Given the description of an element on the screen output the (x, y) to click on. 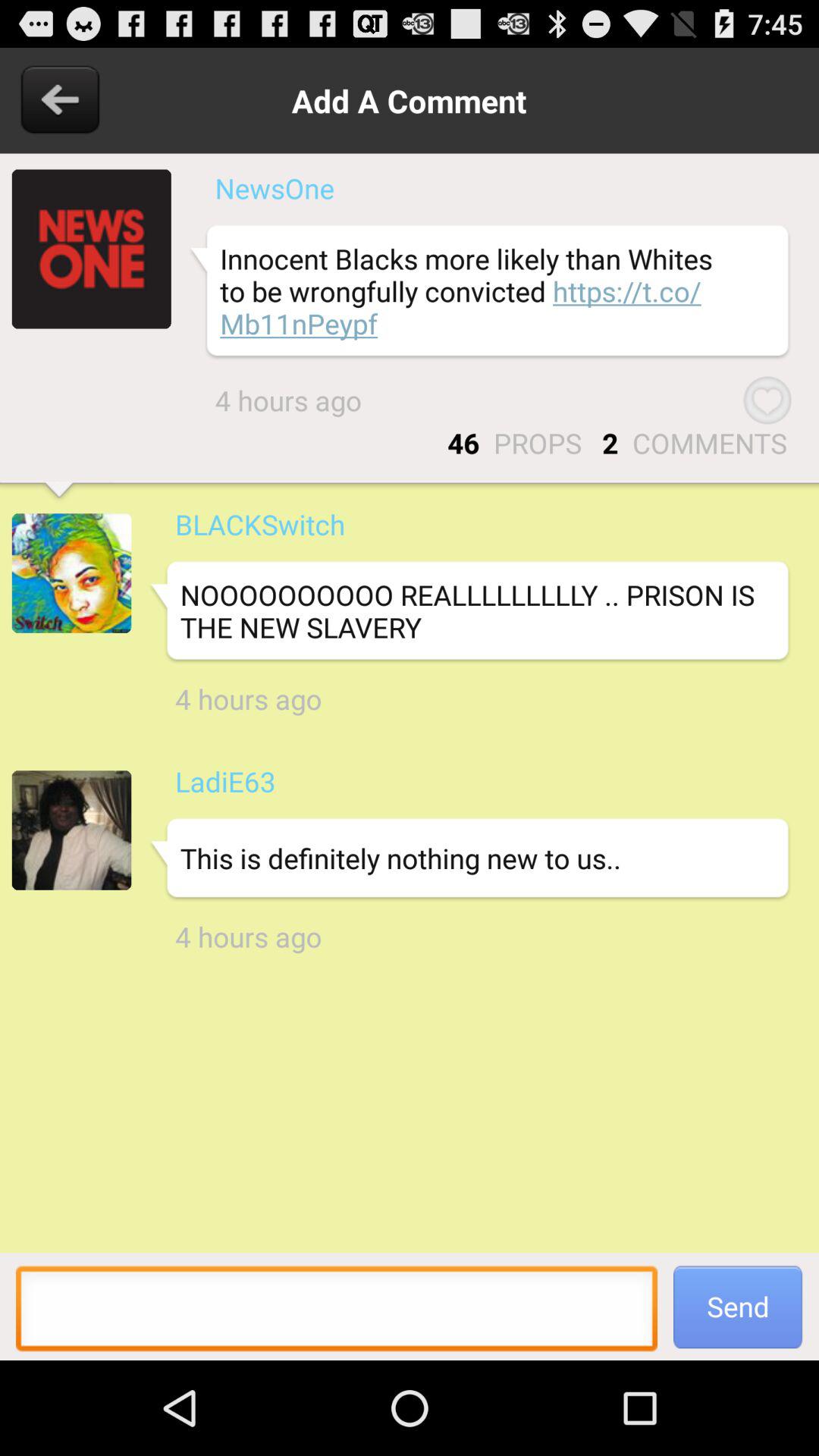
jump to blackswitch app (260, 524)
